Given the description of an element on the screen output the (x, y) to click on. 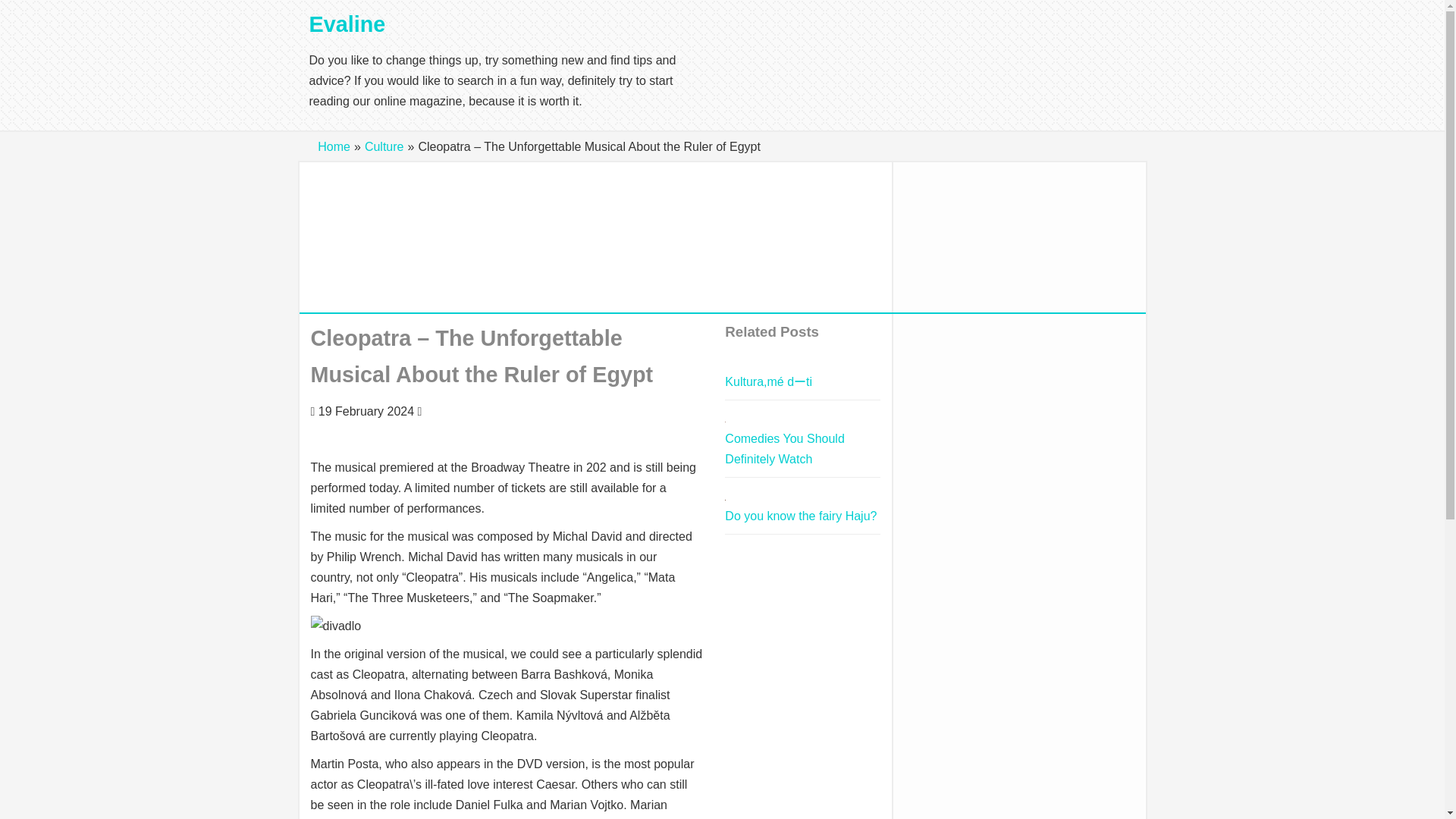
Comedies You Should Definitely Watch (784, 449)
Do you know the fairy Haju? (800, 515)
Home (333, 146)
Evaline (346, 24)
Evaline (346, 24)
Culture (384, 146)
Comedies You Should Definitely Watch (784, 449)
Do you know the fairy Haju? (800, 515)
